Given the description of an element on the screen output the (x, y) to click on. 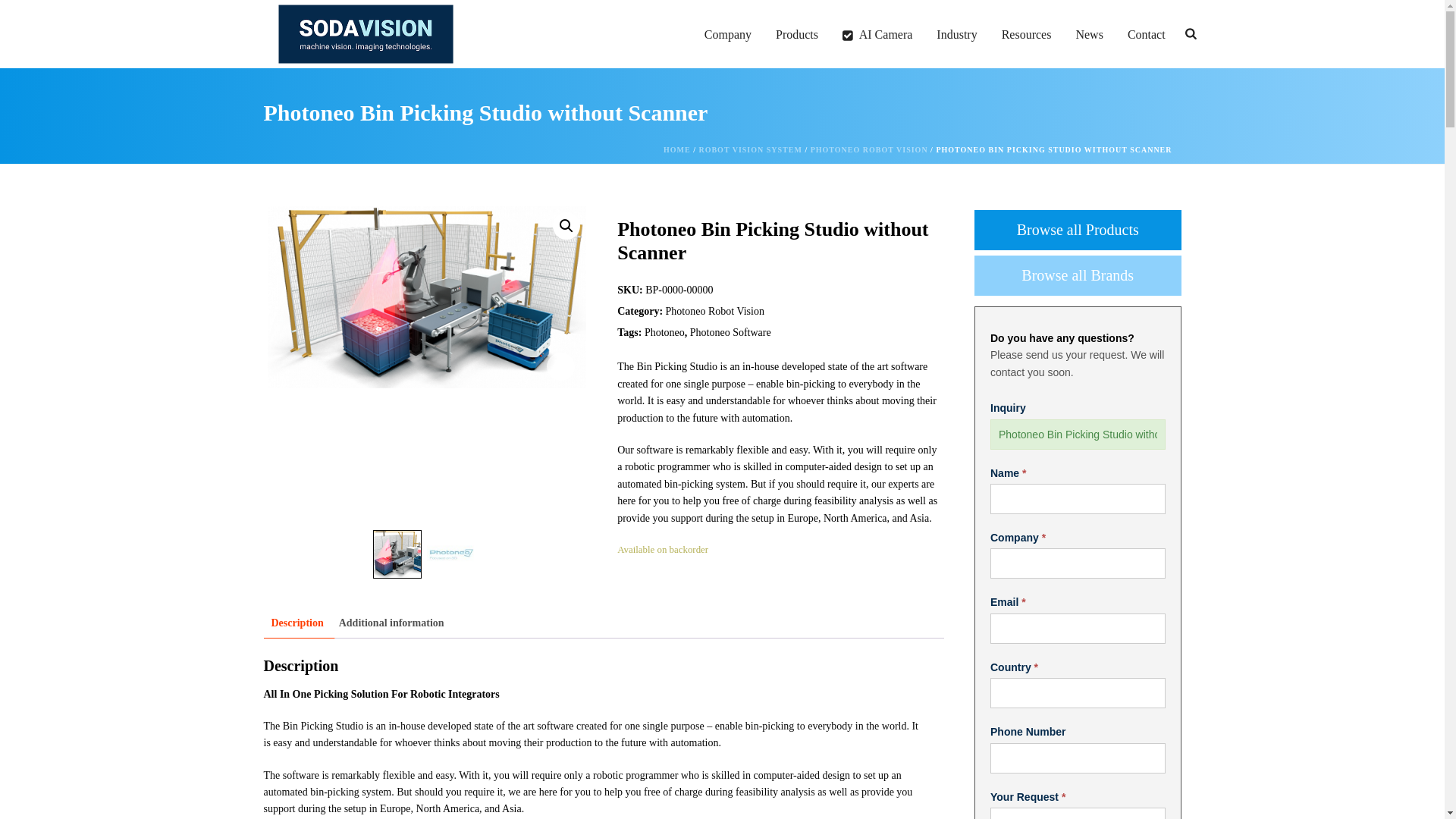
AI Camera (876, 34)
News (1088, 34)
Resources (1027, 34)
Photoneo Bin Picking Studio without Scanner (1078, 434)
Company (727, 34)
bin-picking-studio-without-scanner-e1677224607183-1.png (426, 297)
Industry (956, 34)
Contact (1146, 34)
Products (795, 34)
Industry (956, 34)
Products (795, 34)
AI Camera (876, 34)
Company (727, 34)
Resources (1027, 34)
Soda Vision. Machine Vision. Imaging Technologies. (365, 33)
